Given the description of an element on the screen output the (x, y) to click on. 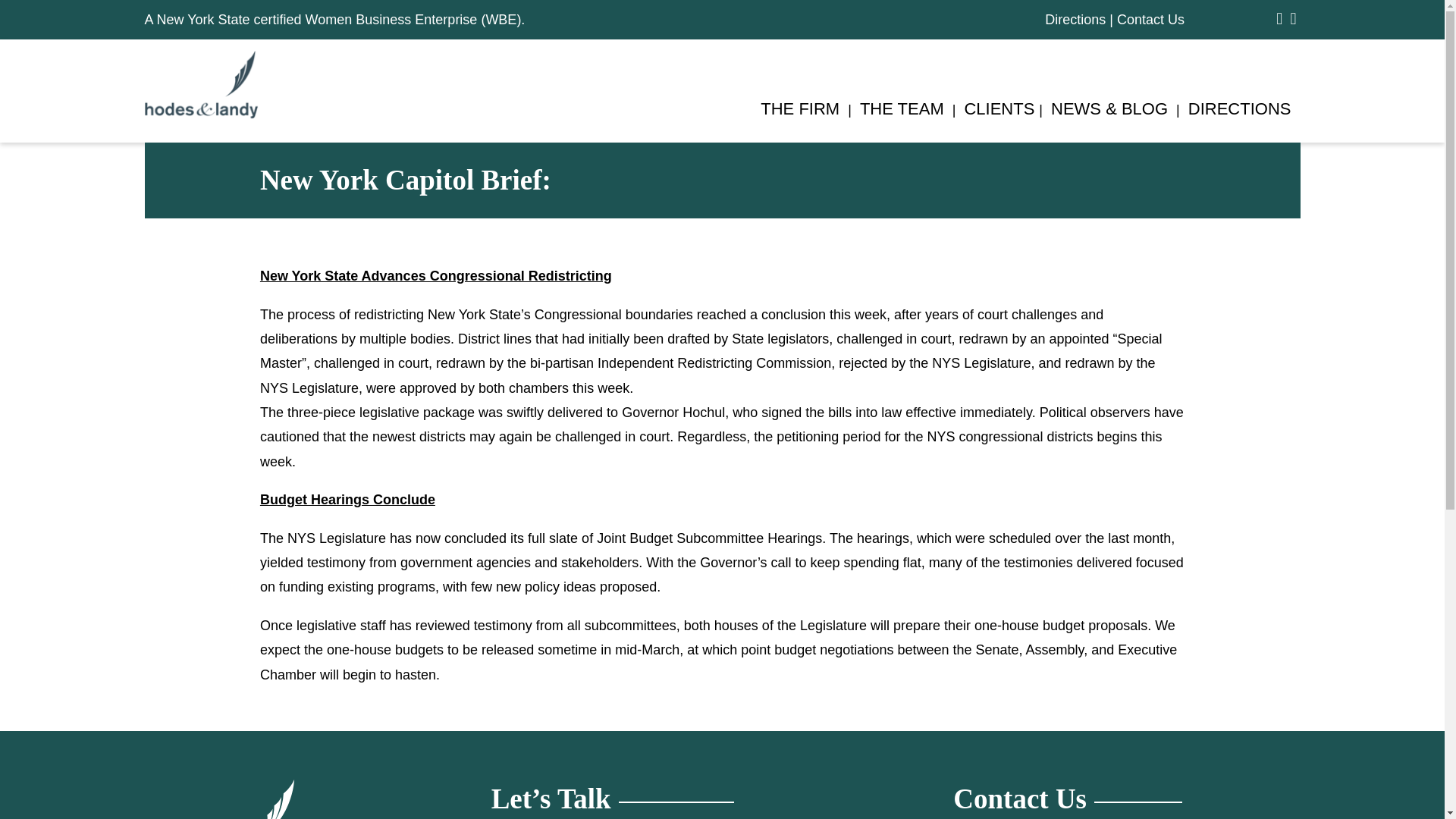
DIRECTIONS (1239, 111)
THE TEAM (901, 111)
THE FIRM (800, 111)
CLIENTS (998, 111)
